Given the description of an element on the screen output the (x, y) to click on. 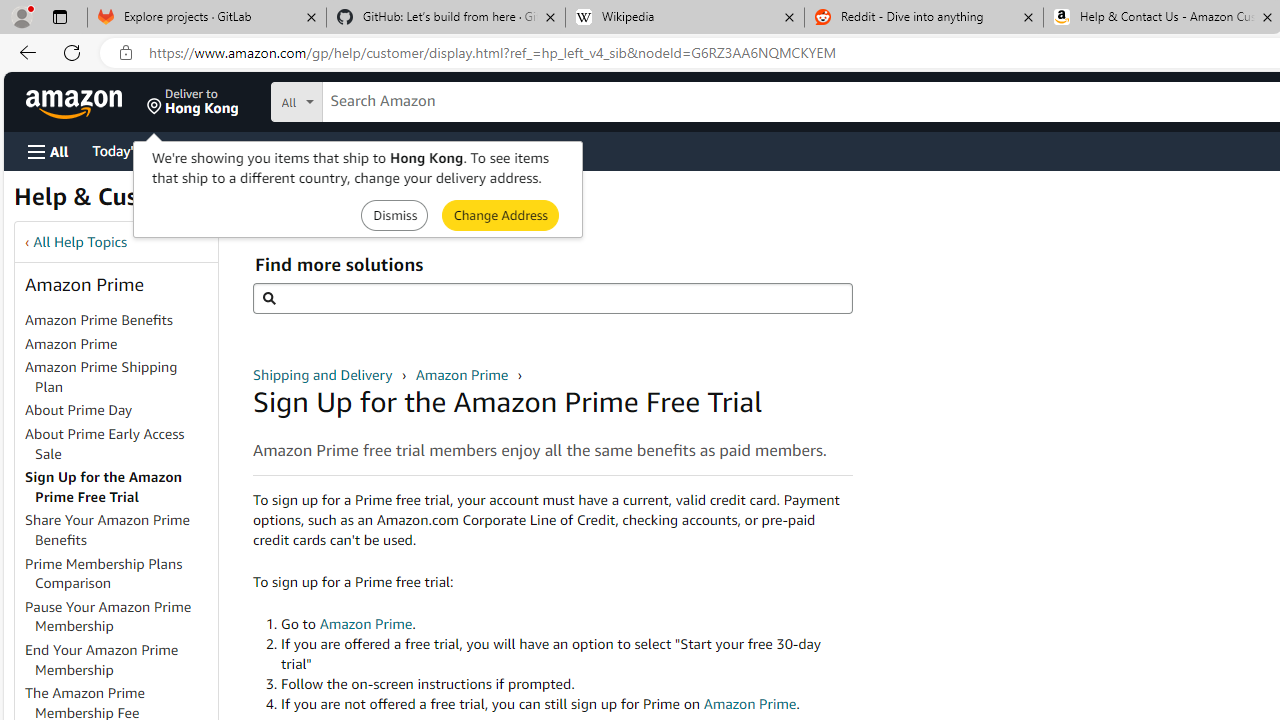
Share Your Amazon Prime Benefits (120, 530)
Prime Membership Plans Comparison (120, 573)
Deliver to Hong Kong (193, 101)
Amazon Prime (71, 343)
Go to Amazon Prime. (566, 624)
End Your Amazon Prime Membership (102, 659)
Share Your Amazon Prime Benefits (107, 529)
Search in (371, 102)
